Given the description of an element on the screen output the (x, y) to click on. 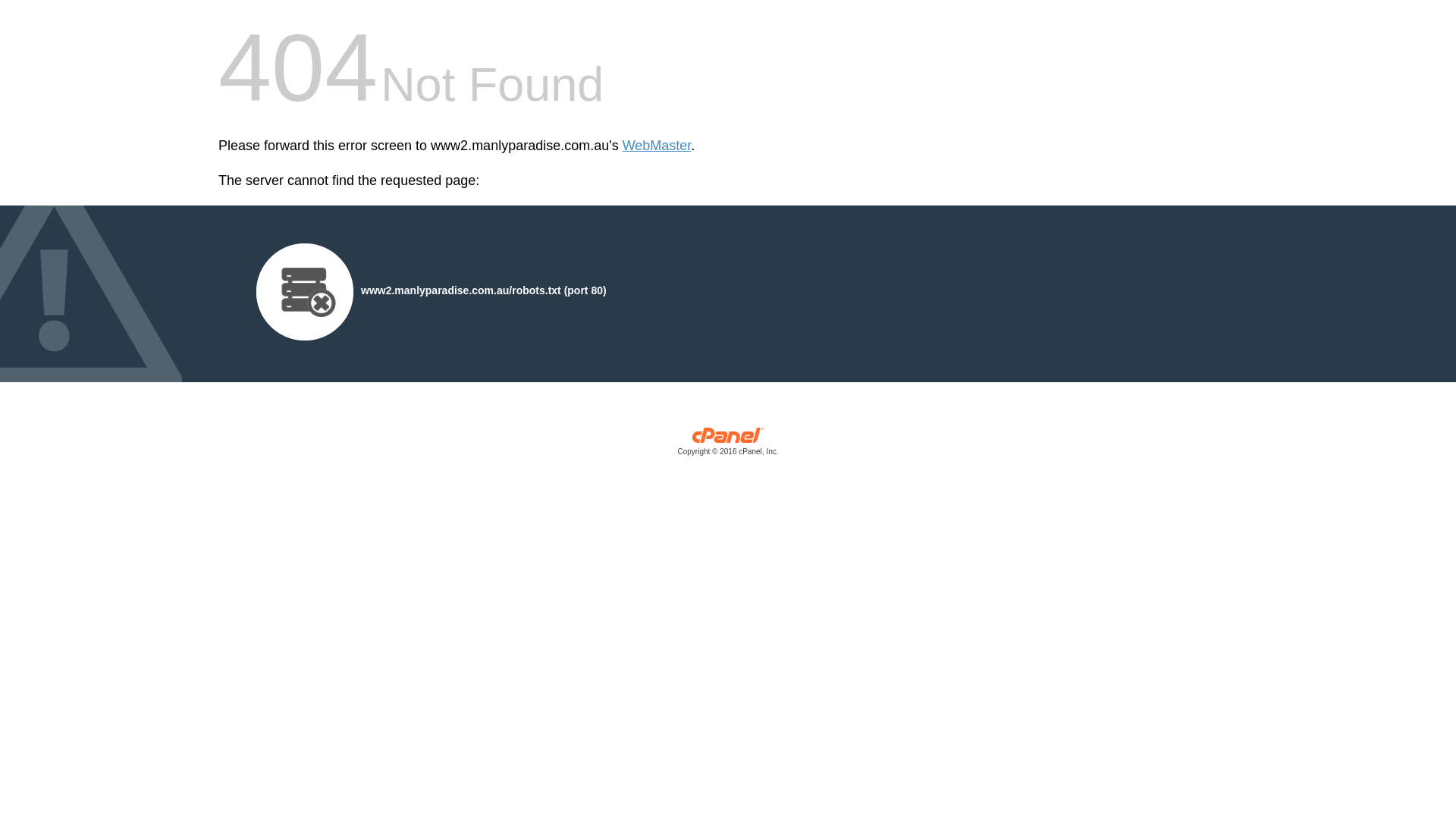
WebMaster Element type: text (656, 145)
